Given the description of an element on the screen output the (x, y) to click on. 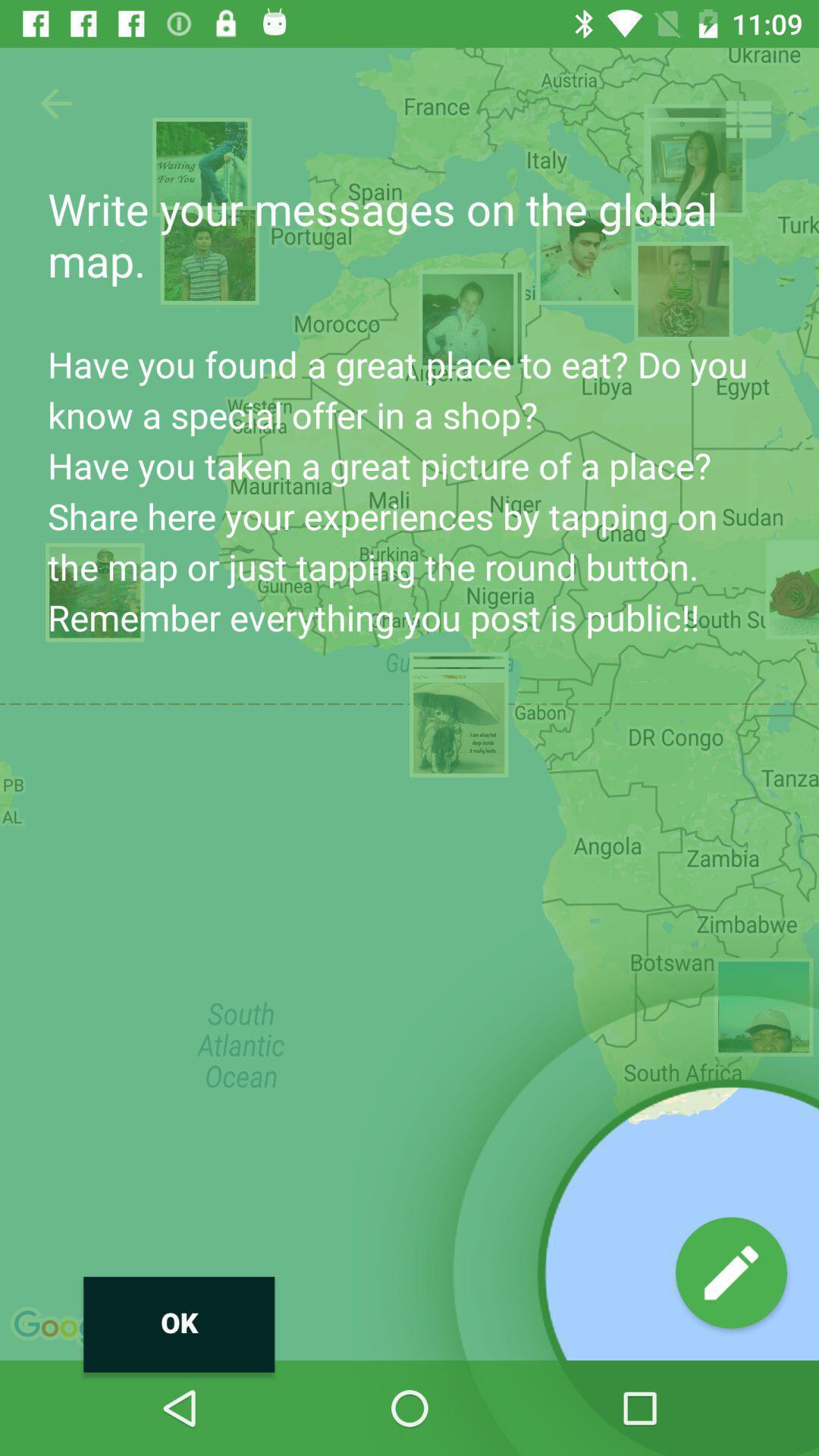
display menu (747, 119)
